Given the description of an element on the screen output the (x, y) to click on. 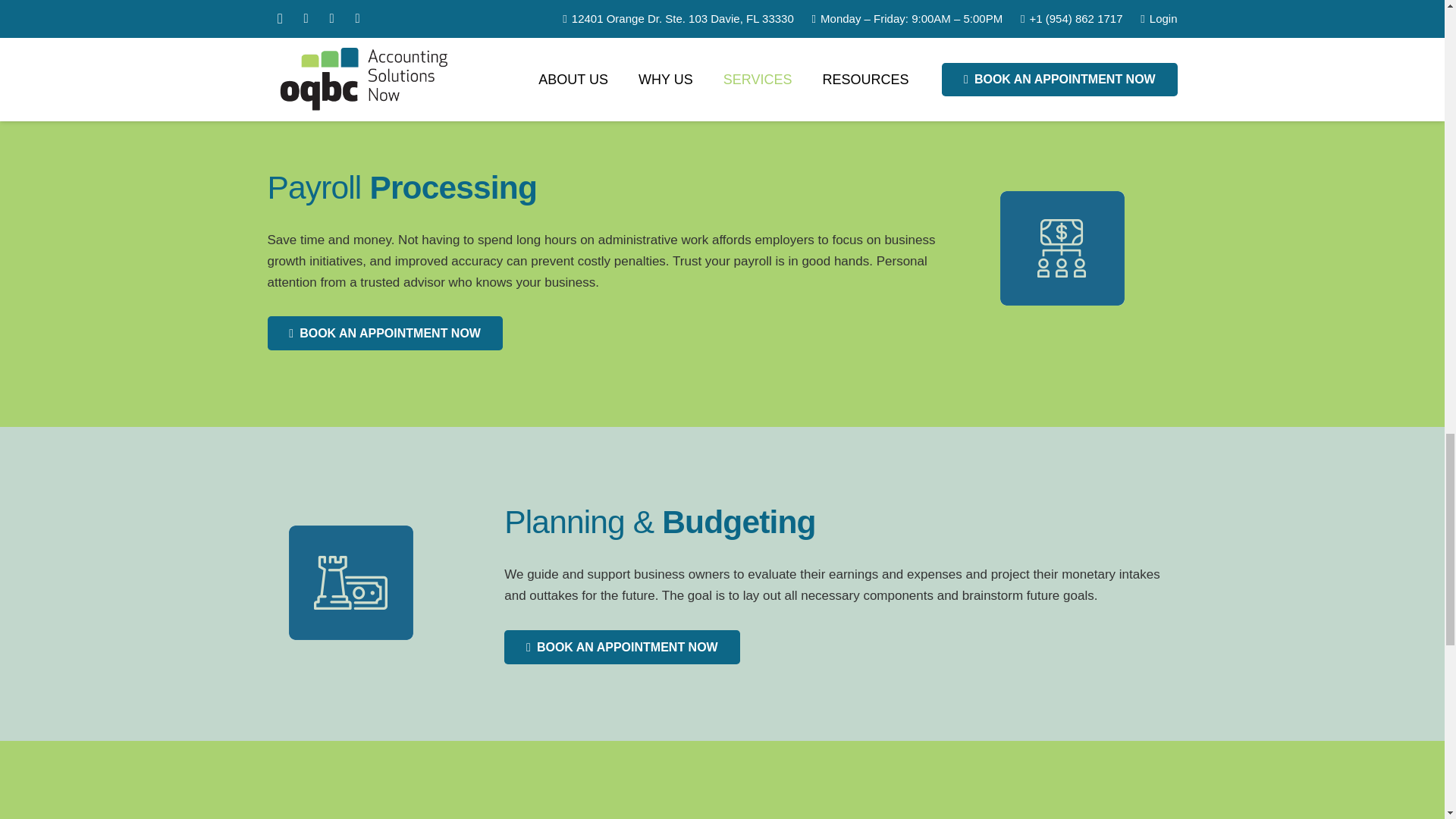
BOOK AN APPOINTMENT NOW (621, 646)
BOOK AN APPOINTMENT NOW (384, 333)
BOOK AN APPOINTMENT NOW (621, 7)
